Given the description of an element on the screen output the (x, y) to click on. 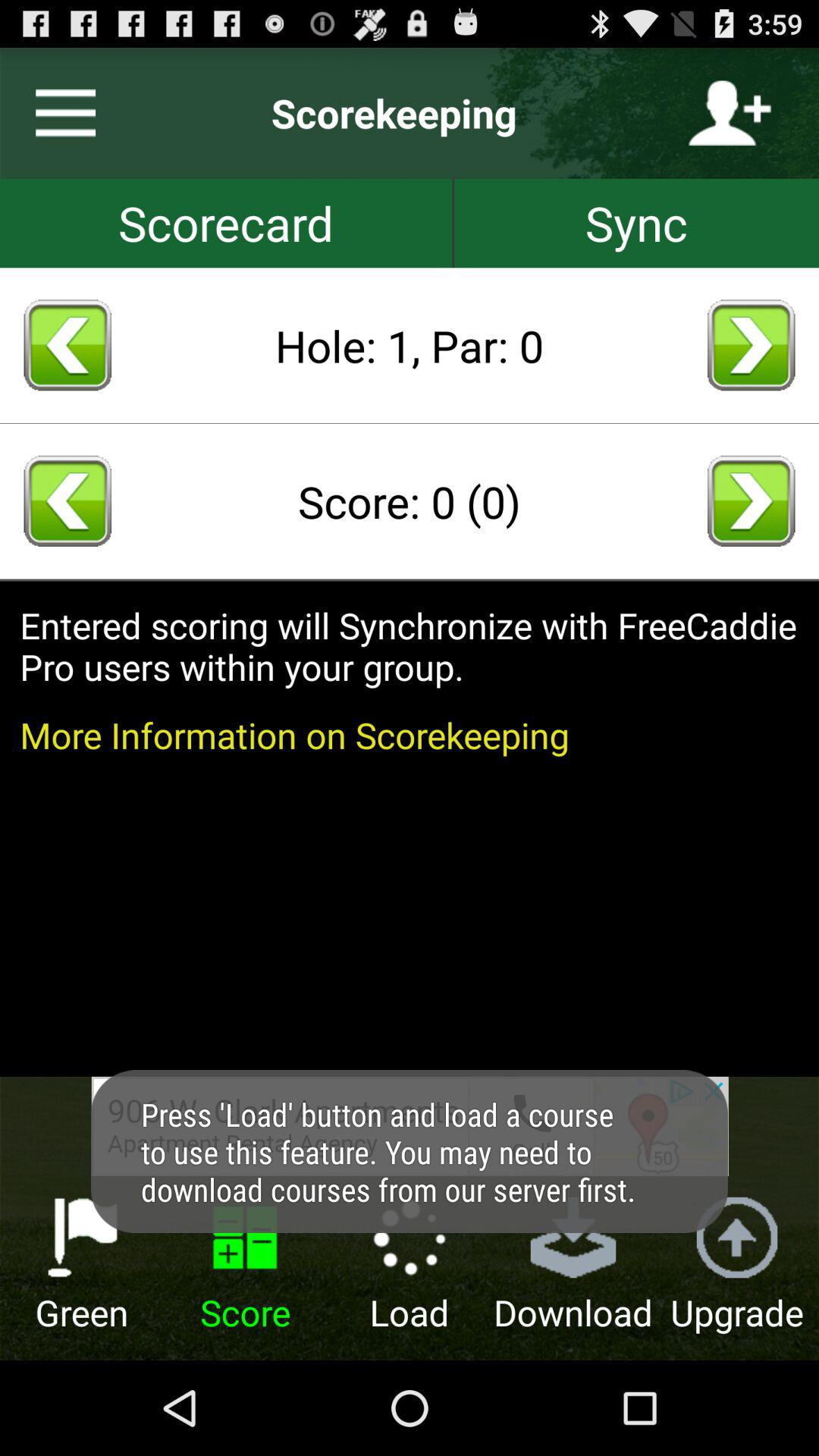
advertisement (409, 1126)
